Given the description of an element on the screen output the (x, y) to click on. 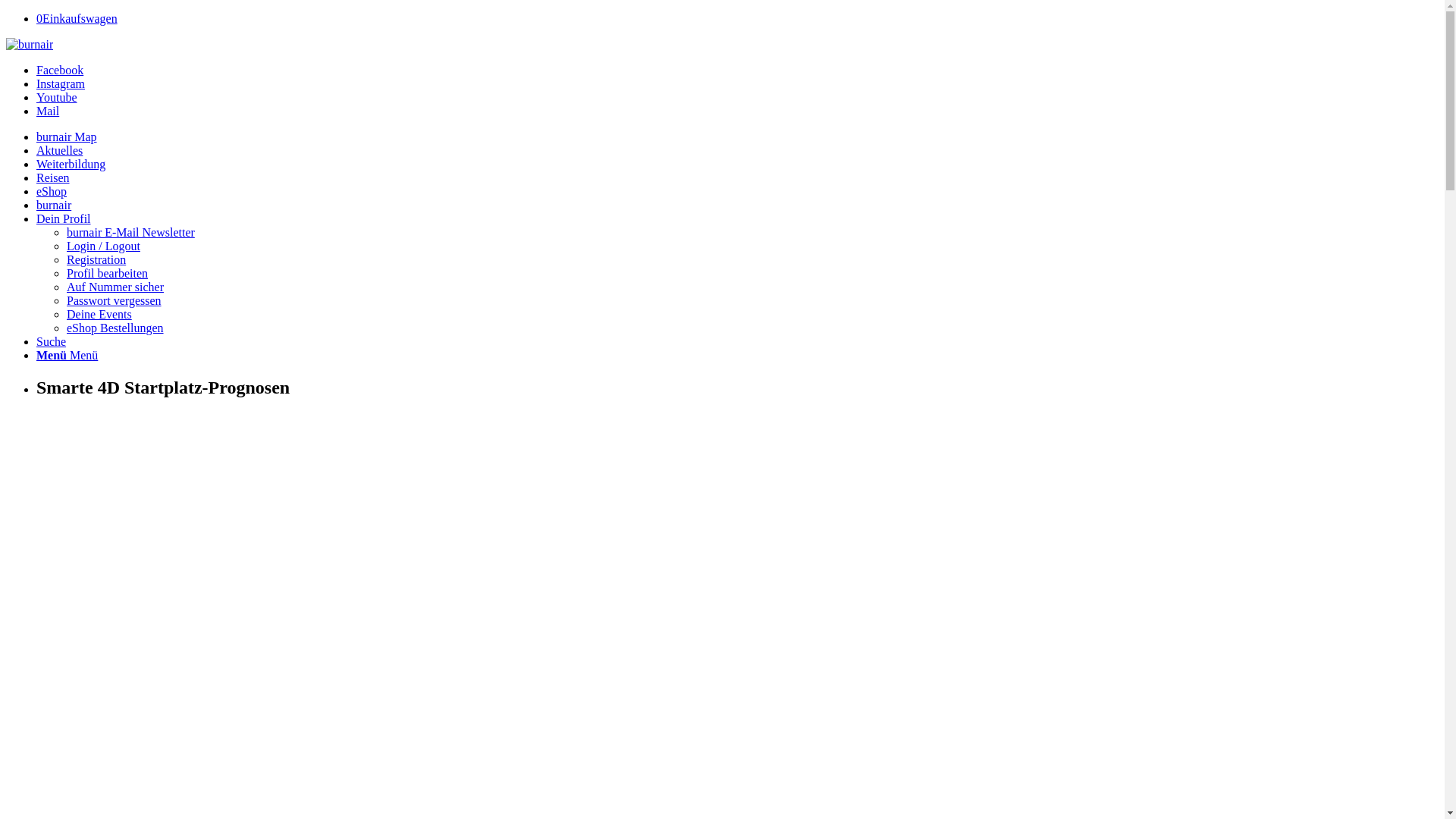
Aktuelles Element type: text (59, 150)
Passwort vergessen Element type: text (113, 300)
Mail Element type: text (47, 110)
Registration Element type: text (95, 259)
burnair E-Mail Newsletter Element type: text (130, 231)
Facebook Element type: text (59, 69)
Deine Events Element type: text (98, 313)
Dein Profil Element type: text (63, 218)
eShop Bestellungen Element type: text (114, 327)
0Einkaufswagen Element type: text (76, 18)
Suche Element type: text (50, 341)
Instagram Element type: text (60, 83)
Youtube Element type: text (56, 97)
Logo_enfold_Website.fw Element type: hover (29, 43)
Profil bearbeiten Element type: text (106, 272)
Login / Logout Element type: text (103, 245)
Weiterbildung Element type: text (70, 163)
Logo_enfold_Website.fw Element type: hover (29, 44)
eShop Element type: text (51, 191)
Auf Nummer sicher Element type: text (114, 286)
burnair Element type: text (53, 204)
burnair Map Element type: text (66, 136)
Reisen Element type: text (52, 177)
